Given the description of an element on the screen output the (x, y) to click on. 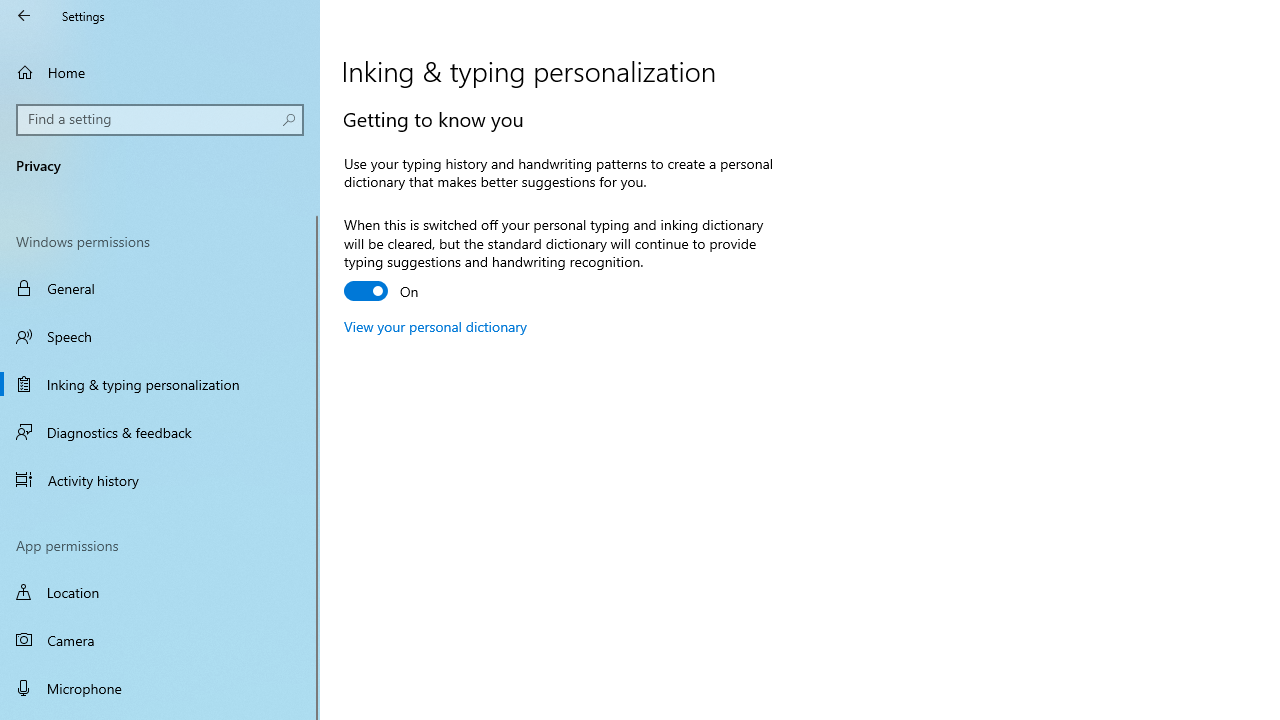
Camera (160, 639)
Home (160, 71)
Microphone (160, 687)
Location (160, 592)
Activity history (160, 479)
Search box, Find a setting (160, 119)
View your personal dictionary (435, 326)
Speech (160, 335)
Diagnostics & feedback (160, 431)
Back (24, 15)
General (160, 287)
Inking & typing personalization (160, 384)
